Given the description of an element on the screen output the (x, y) to click on. 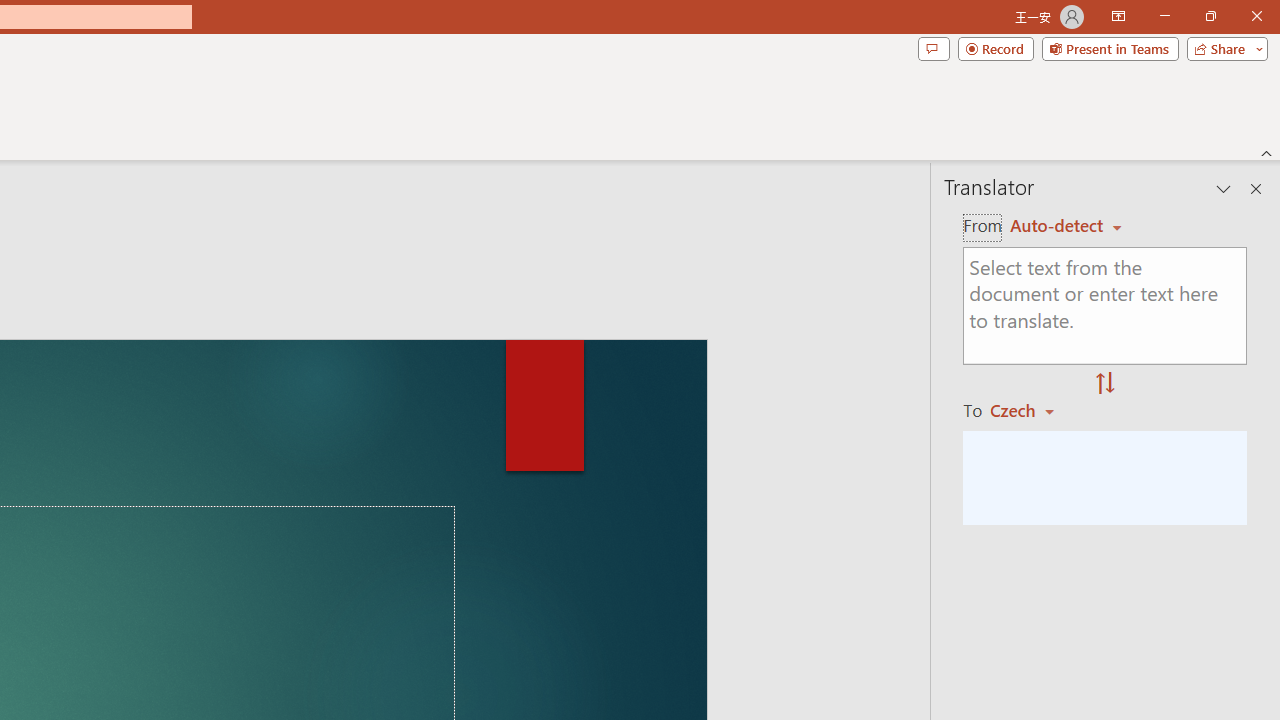
Auto-detect (1066, 225)
Swap "from" and "to" languages. (1105, 383)
Czech (1030, 409)
